Given the description of an element on the screen output the (x, y) to click on. 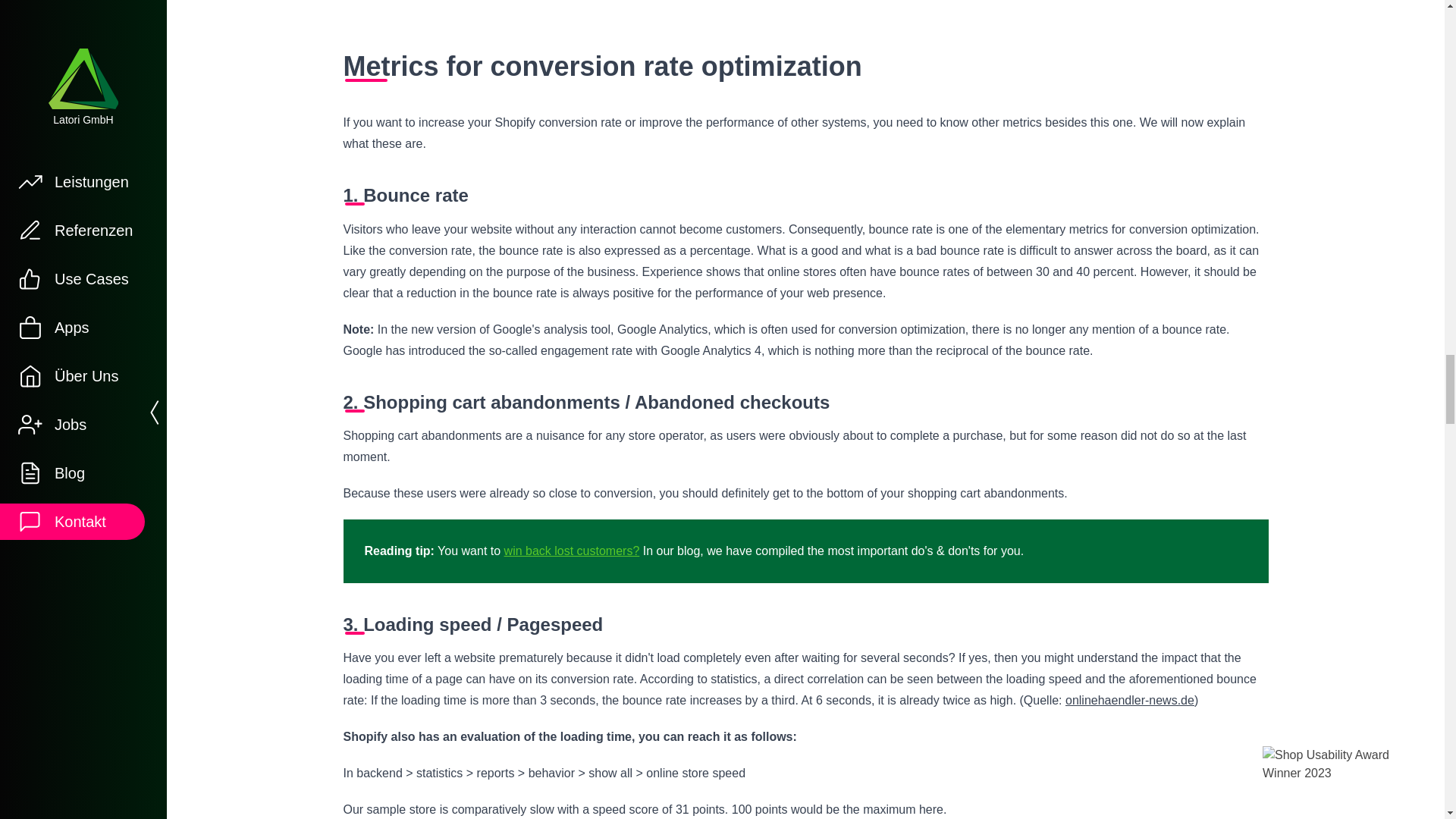
onlinehaendler-news.de (1129, 699)
1. Bounce rate (805, 195)
win back lost customers? (571, 550)
Metrics for conversion rate optimization (805, 66)
